Given the description of an element on the screen output the (x, y) to click on. 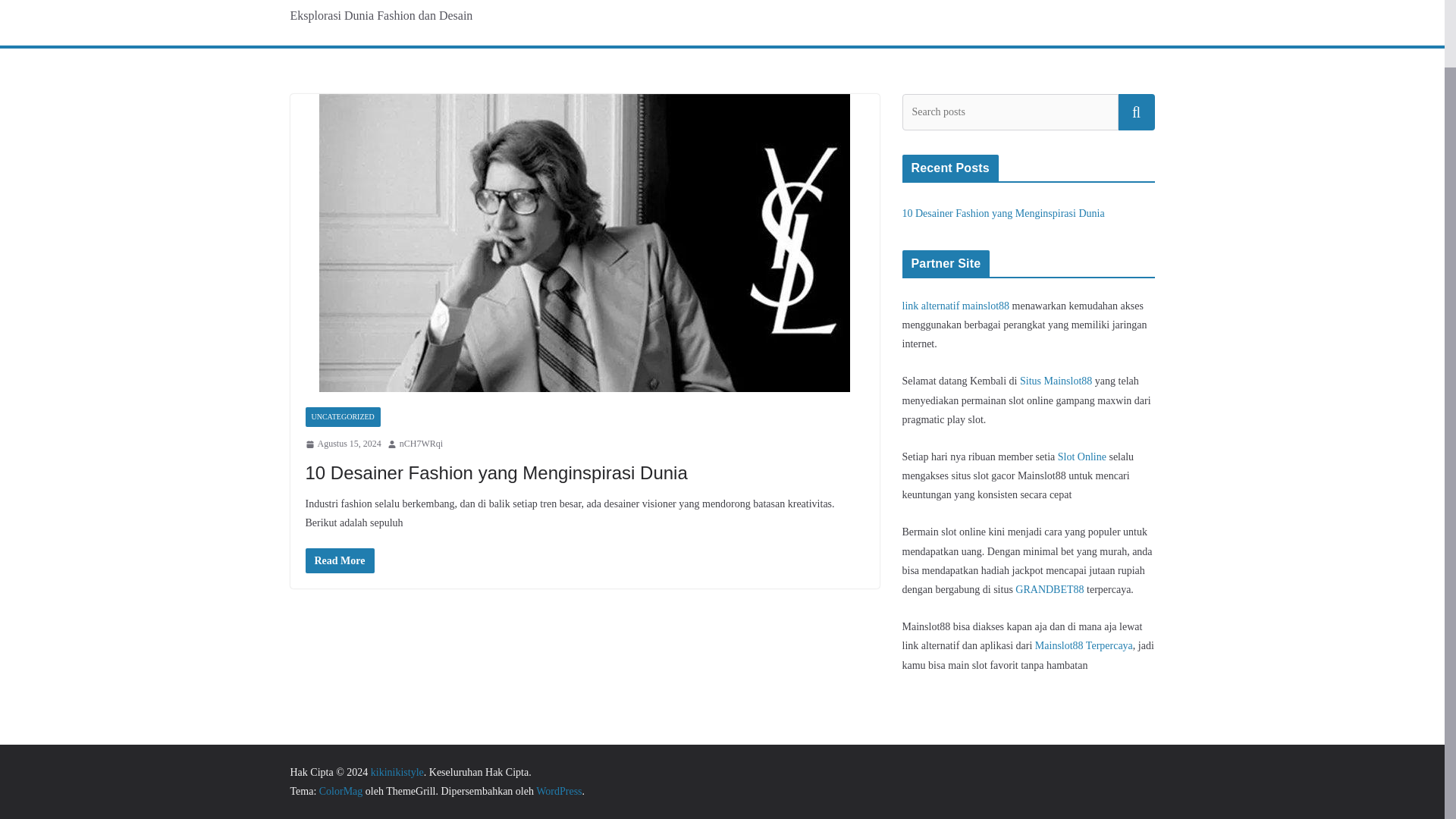
WordPress (557, 790)
10 Desainer Fashion yang Menginspirasi Dunia (495, 472)
10 Desainer Fashion yang Menginspirasi Dunia (1003, 213)
10 Desainer Fashion yang Menginspirasi Dunia (495, 472)
3:53 pm (342, 443)
Cari (1136, 112)
Situs Mainslot88 (1056, 380)
Agustus 15, 2024 (342, 443)
WordPress (557, 790)
